Given the description of an element on the screen output the (x, y) to click on. 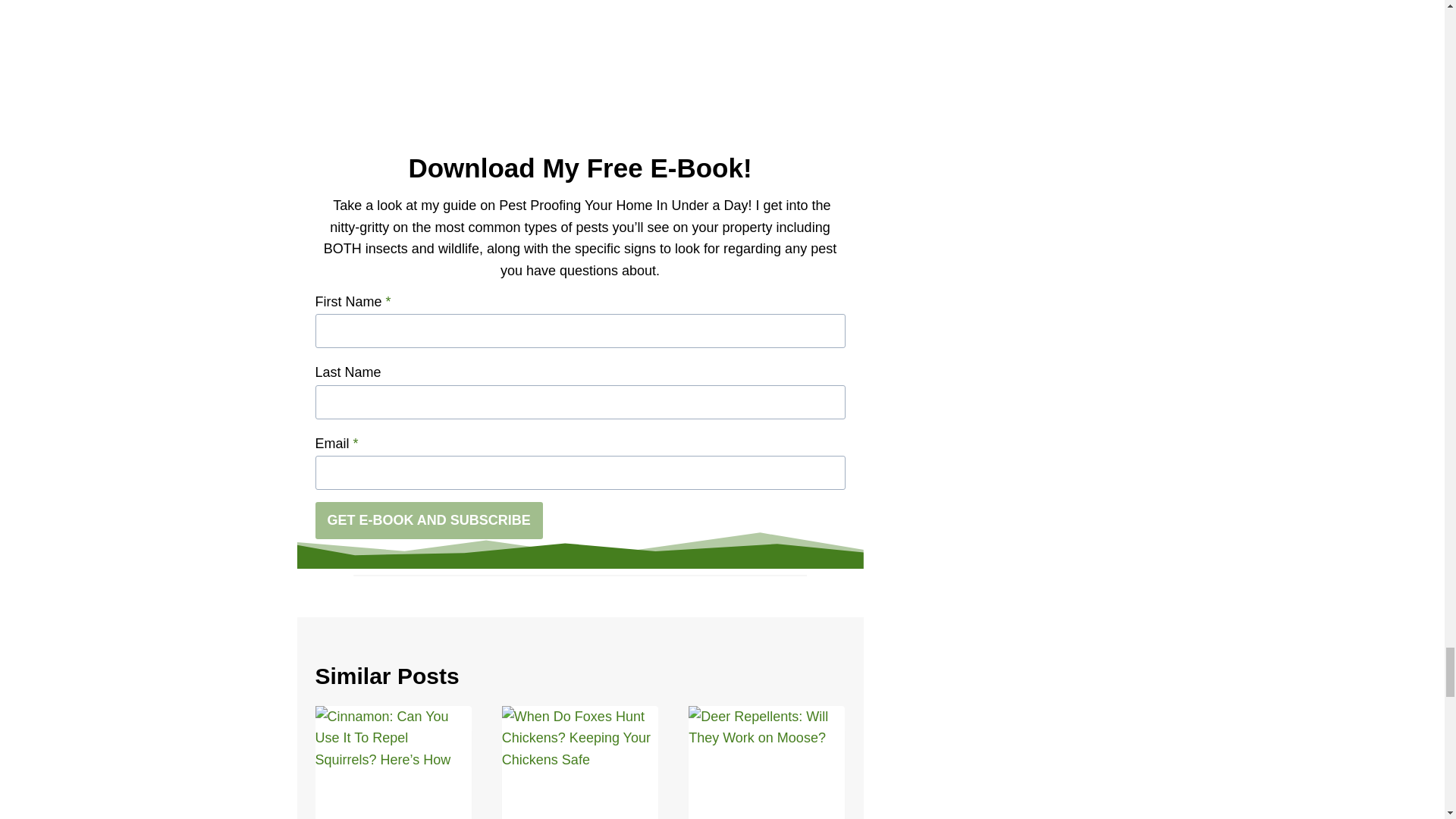
GET E-BOOK AND SUBSCRIBE (429, 520)
